Given the description of an element on the screen output the (x, y) to click on. 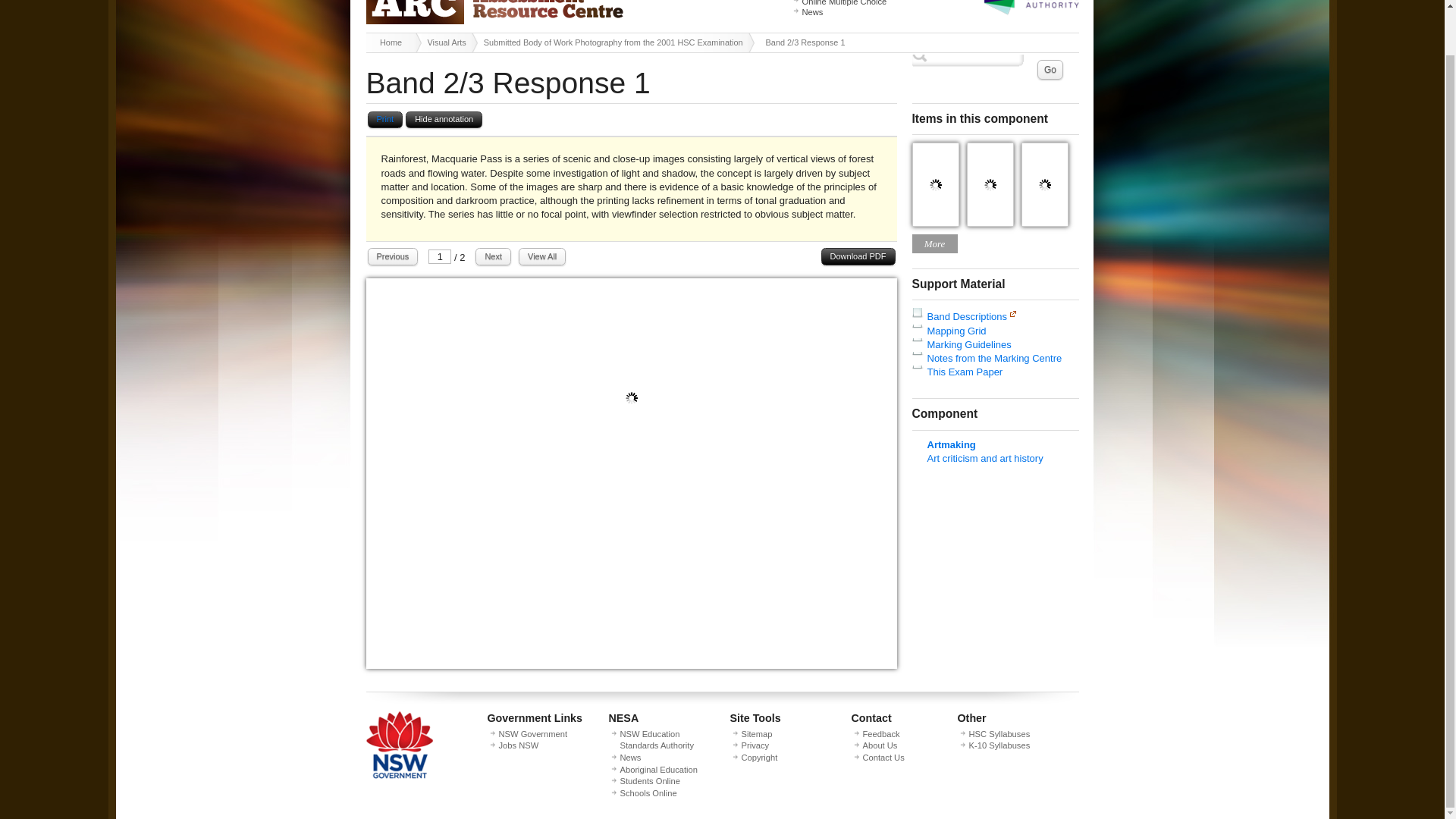
News (813, 11)
Online Multiple Choice (844, 2)
1 (439, 256)
Next (493, 256)
Print (384, 119)
Hide annotation (443, 119)
Previous (391, 256)
View All (542, 256)
Mapping Grid (955, 330)
Home (392, 42)
